Given the description of an element on the screen output the (x, y) to click on. 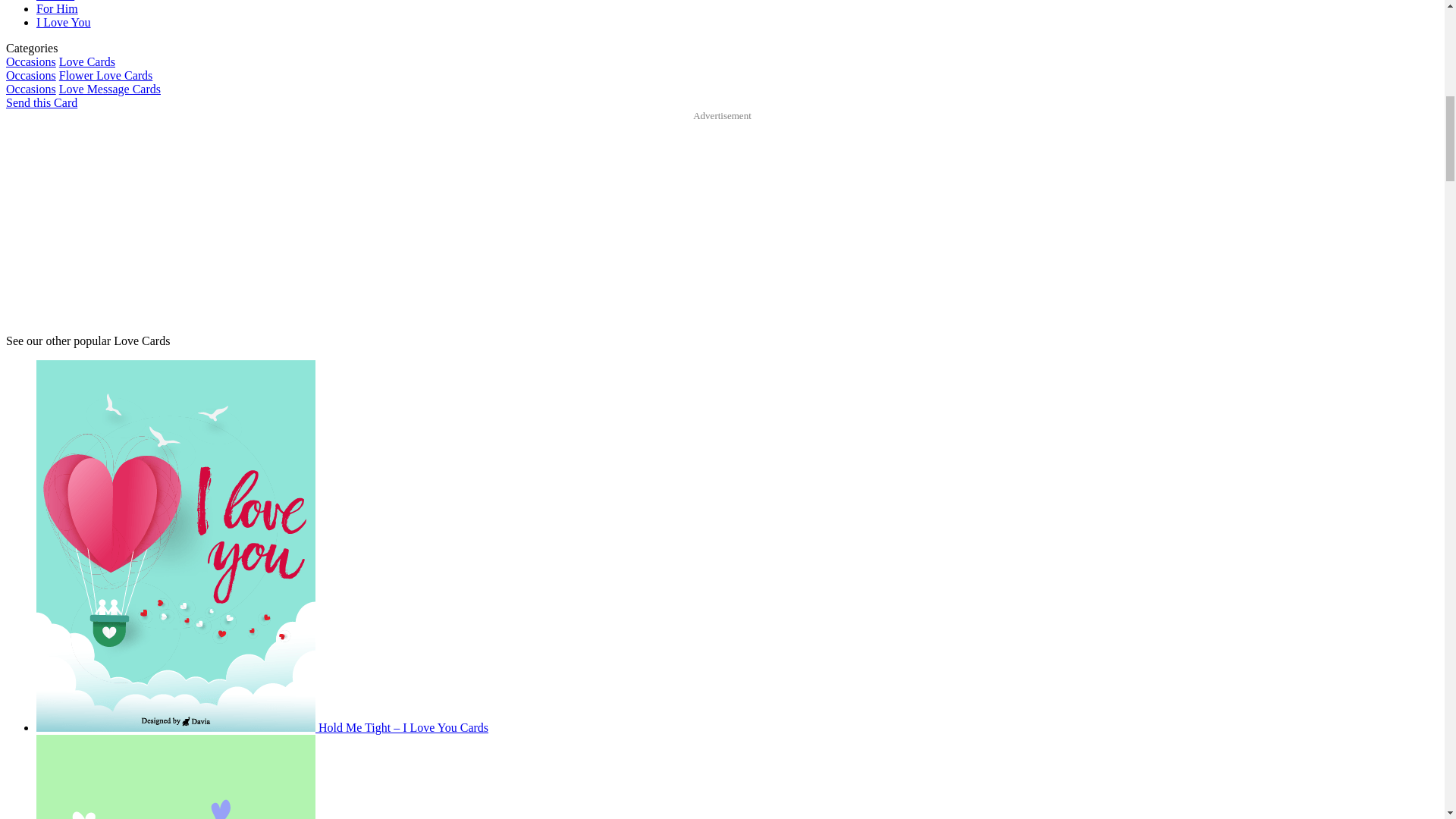
For Her (55, 0)
For Him (57, 8)
